Given the description of an element on the screen output the (x, y) to click on. 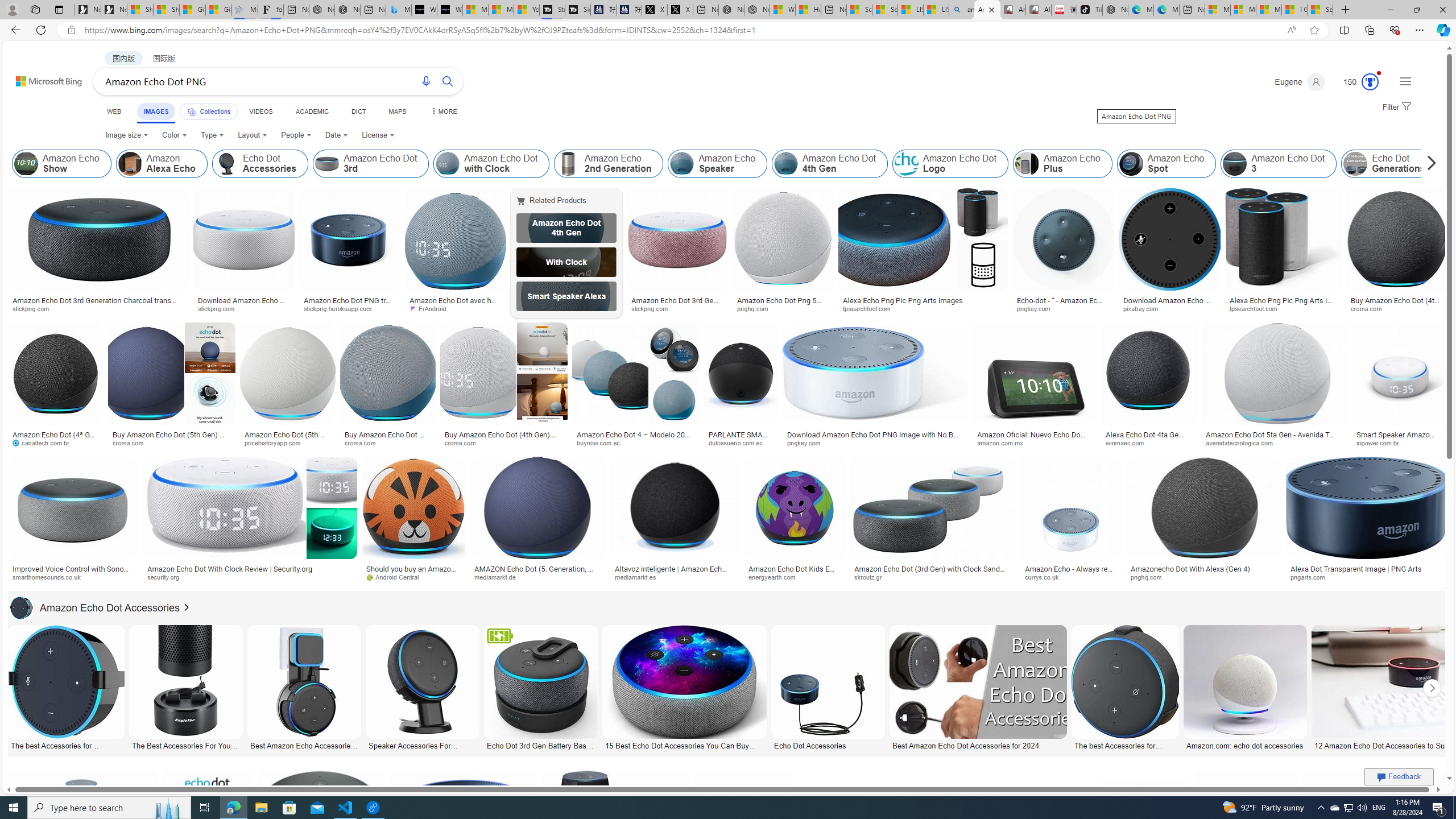
Alexa Dot Transparent Image | PNG Artspngarts.comSave (1366, 521)
amazon.com.mx (1003, 442)
pngkey.com (875, 442)
mediamarkt.de (499, 576)
Amazon Echo Plus (1062, 163)
